Given the description of an element on the screen output the (x, y) to click on. 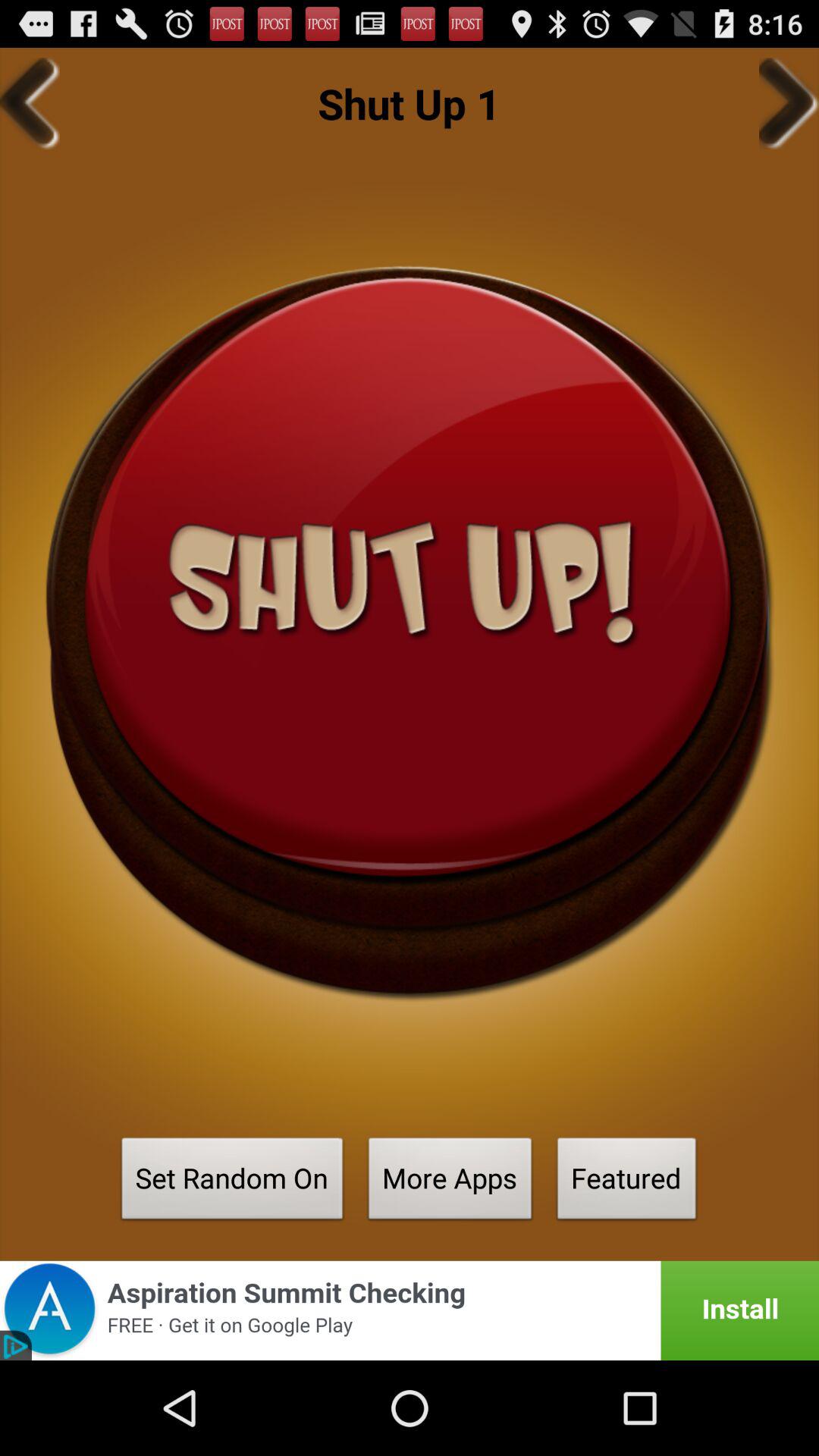
go back (29, 103)
